Given the description of an element on the screen output the (x, y) to click on. 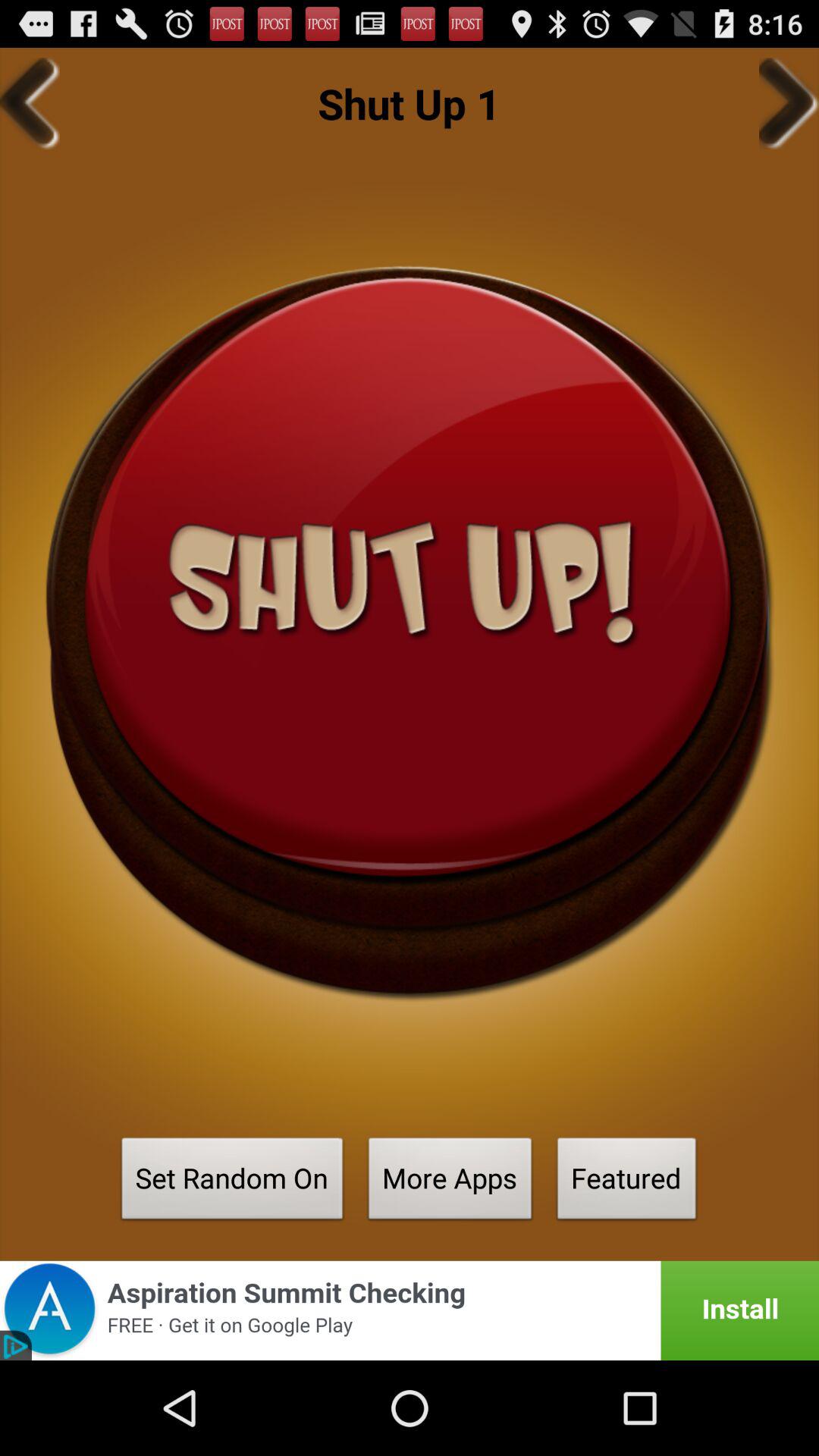
go back (29, 103)
